Given the description of an element on the screen output the (x, y) to click on. 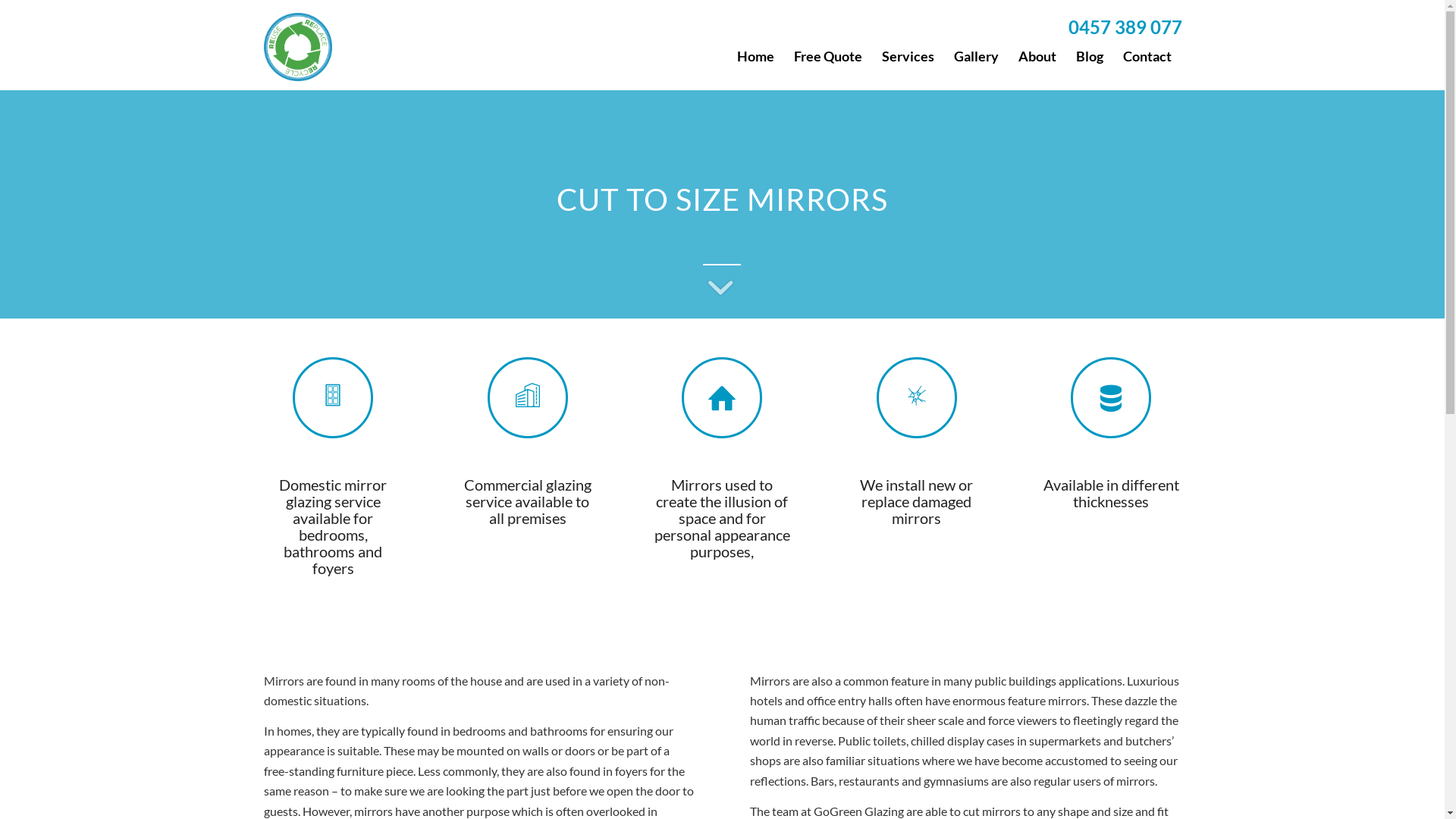
0457 389 077 Element type: text (1124, 26)
Home Element type: text (754, 55)
Free Quote Element type: text (828, 55)
Contact Element type: text (1147, 55)
Gallery Element type: text (975, 55)
Services Element type: text (908, 55)
About Element type: text (1037, 55)
Blog Element type: text (1089, 55)
